Given the description of an element on the screen output the (x, y) to click on. 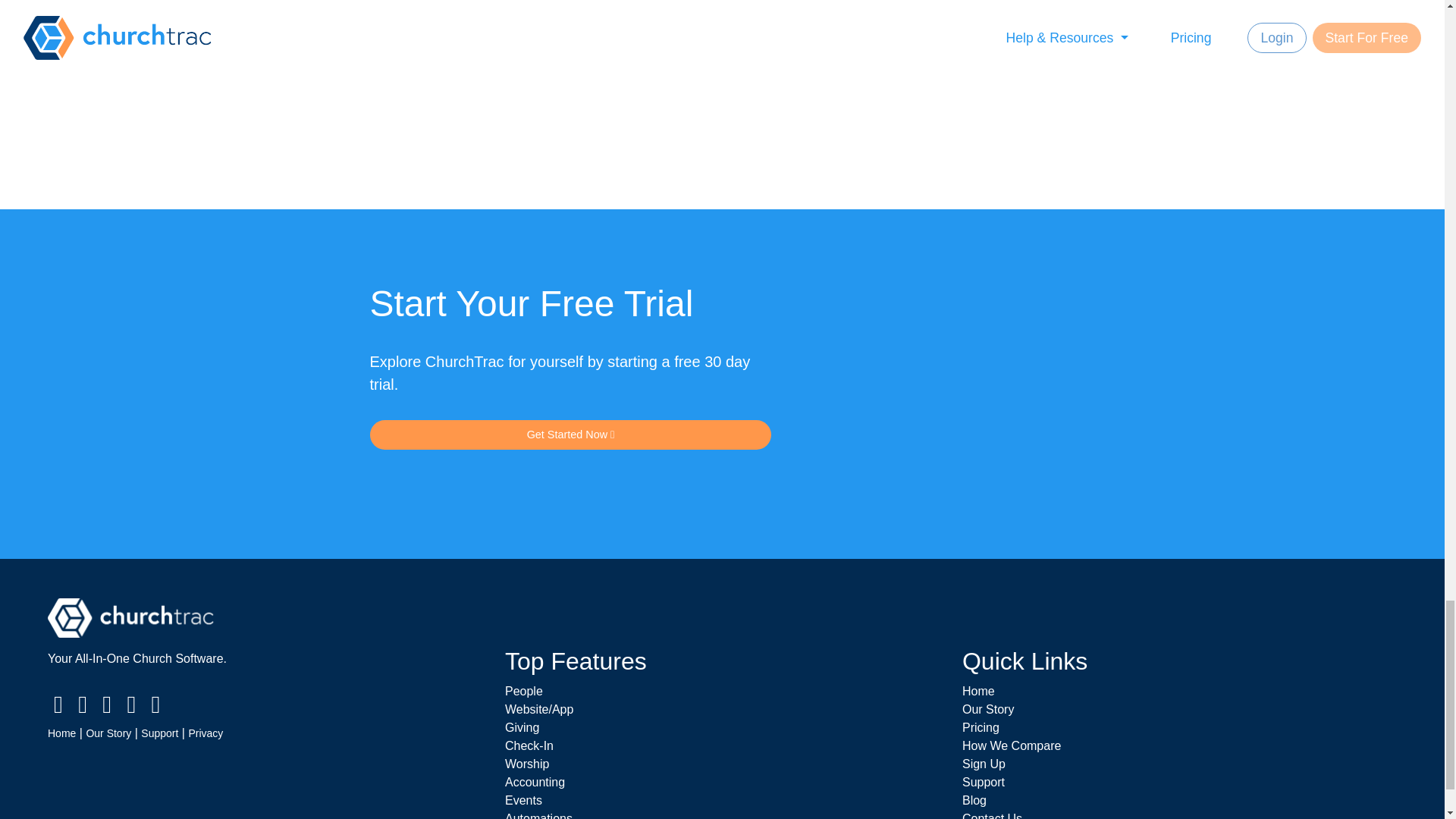
Our Story (108, 733)
Check-In (529, 745)
Youtube (130, 707)
Get Started Now (570, 435)
Events (523, 799)
Support (159, 733)
Facebook (58, 707)
Privacy (204, 733)
Pinterest (106, 707)
Accounting (534, 781)
Worship (526, 763)
Twitter (82, 707)
Home (61, 733)
Giving (521, 727)
People (524, 690)
